Given the description of an element on the screen output the (x, y) to click on. 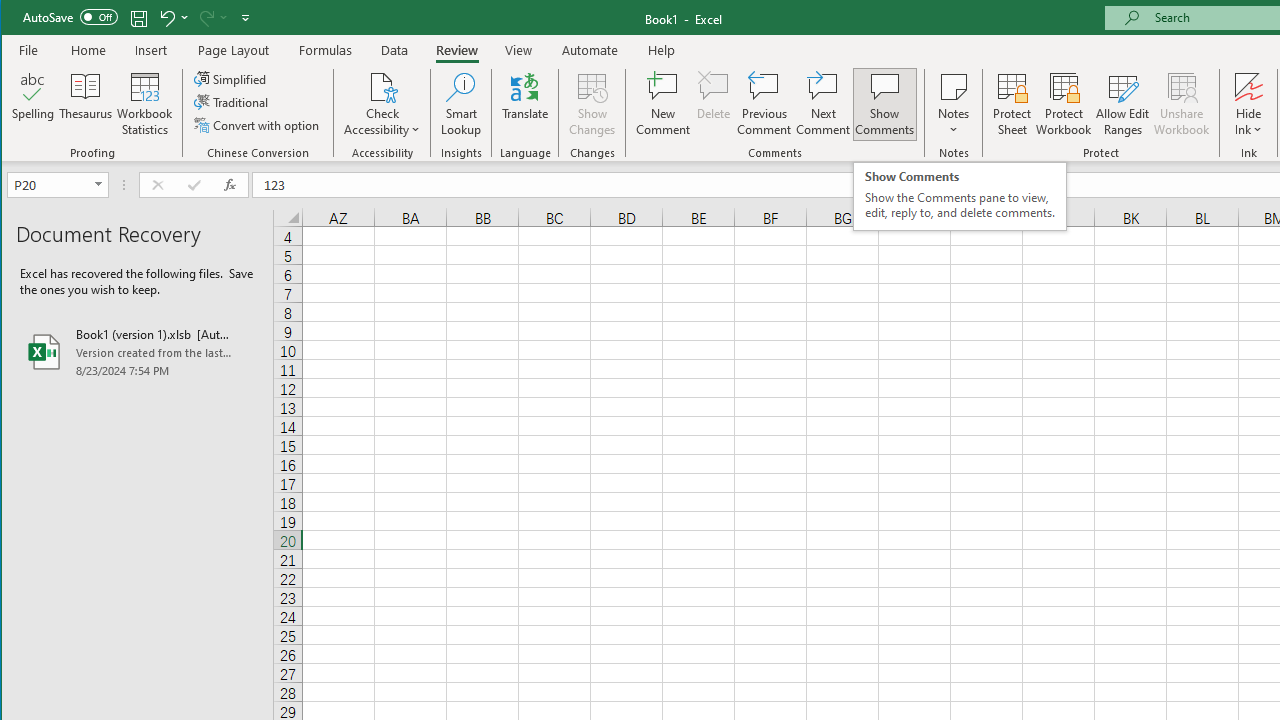
Unshare Workbook (1182, 104)
Spelling... (33, 104)
Protect Sheet... (1012, 104)
Next Comment (822, 104)
Thesaurus... (86, 104)
